Given the description of an element on the screen output the (x, y) to click on. 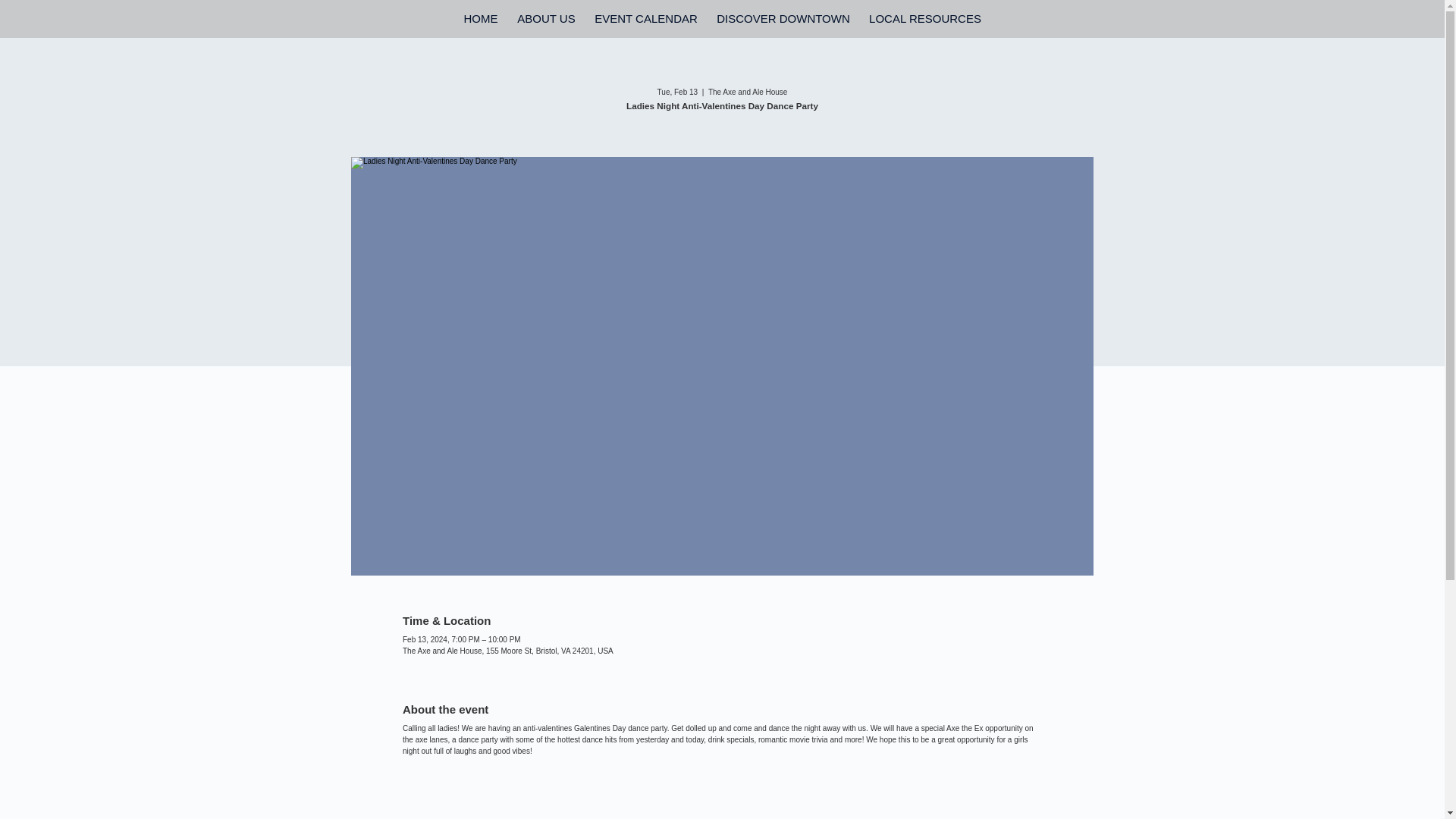
EVENT CALENDAR (646, 18)
ABOUT US (546, 18)
DISCOVER DOWNTOWN (782, 18)
HOME (479, 18)
